Given the description of an element on the screen output the (x, y) to click on. 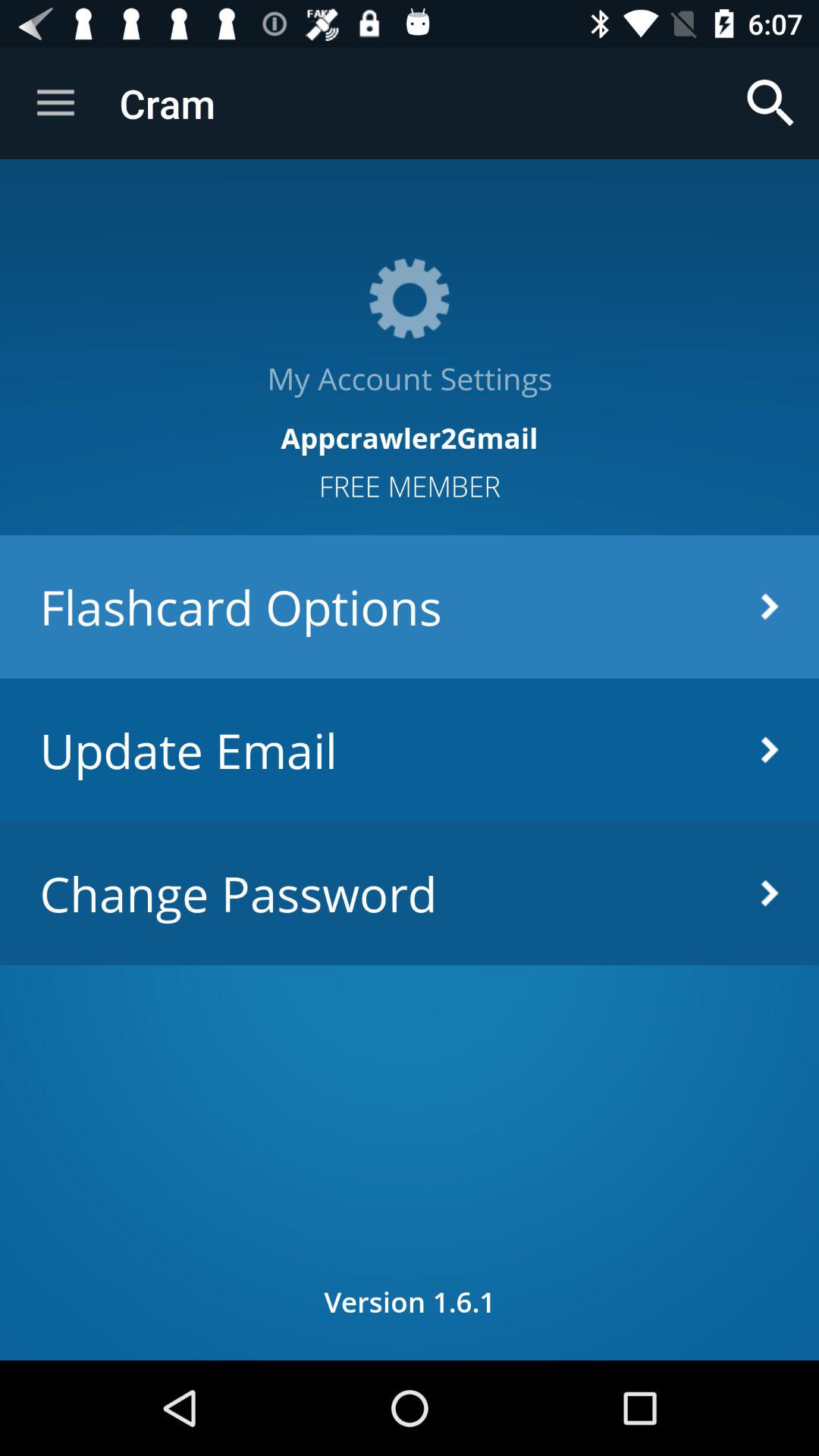
open the app next to cram item (771, 103)
